Given the description of an element on the screen output the (x, y) to click on. 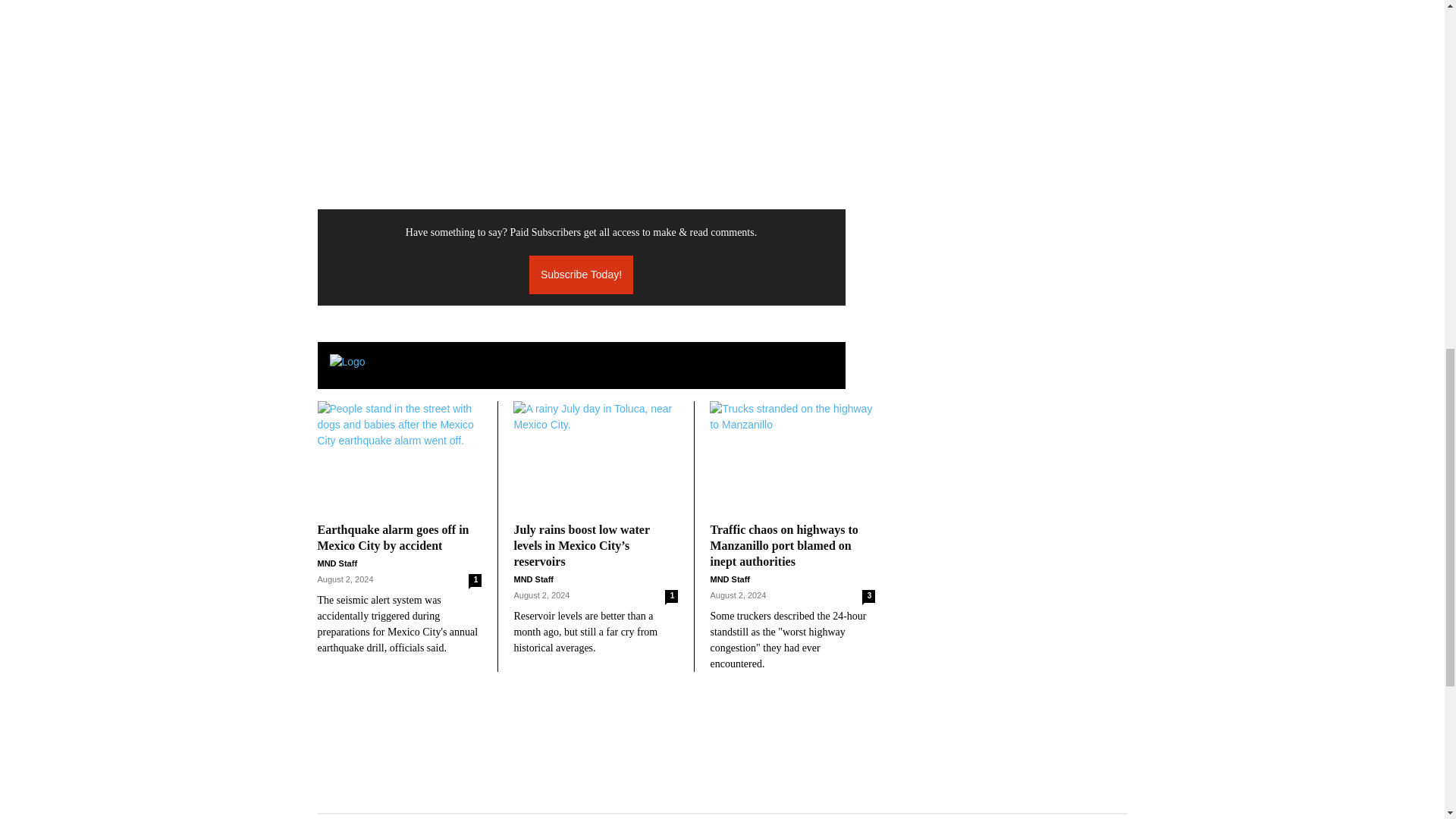
Earthquake alarm goes off in Mexico City by accident (399, 457)
